Given the description of an element on the screen output the (x, y) to click on. 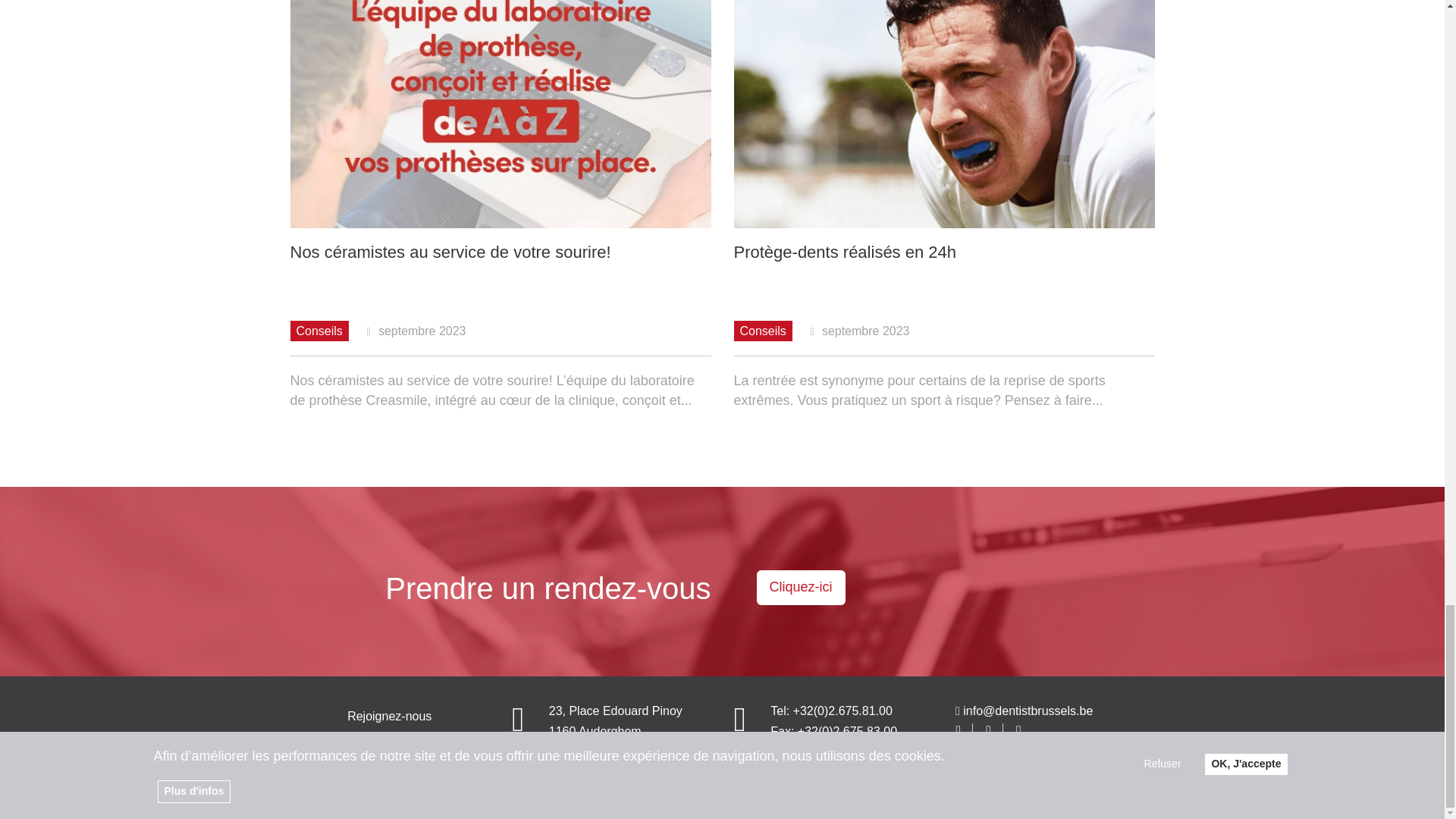
Vcard (739, 726)
